Given the description of an element on the screen output the (x, y) to click on. 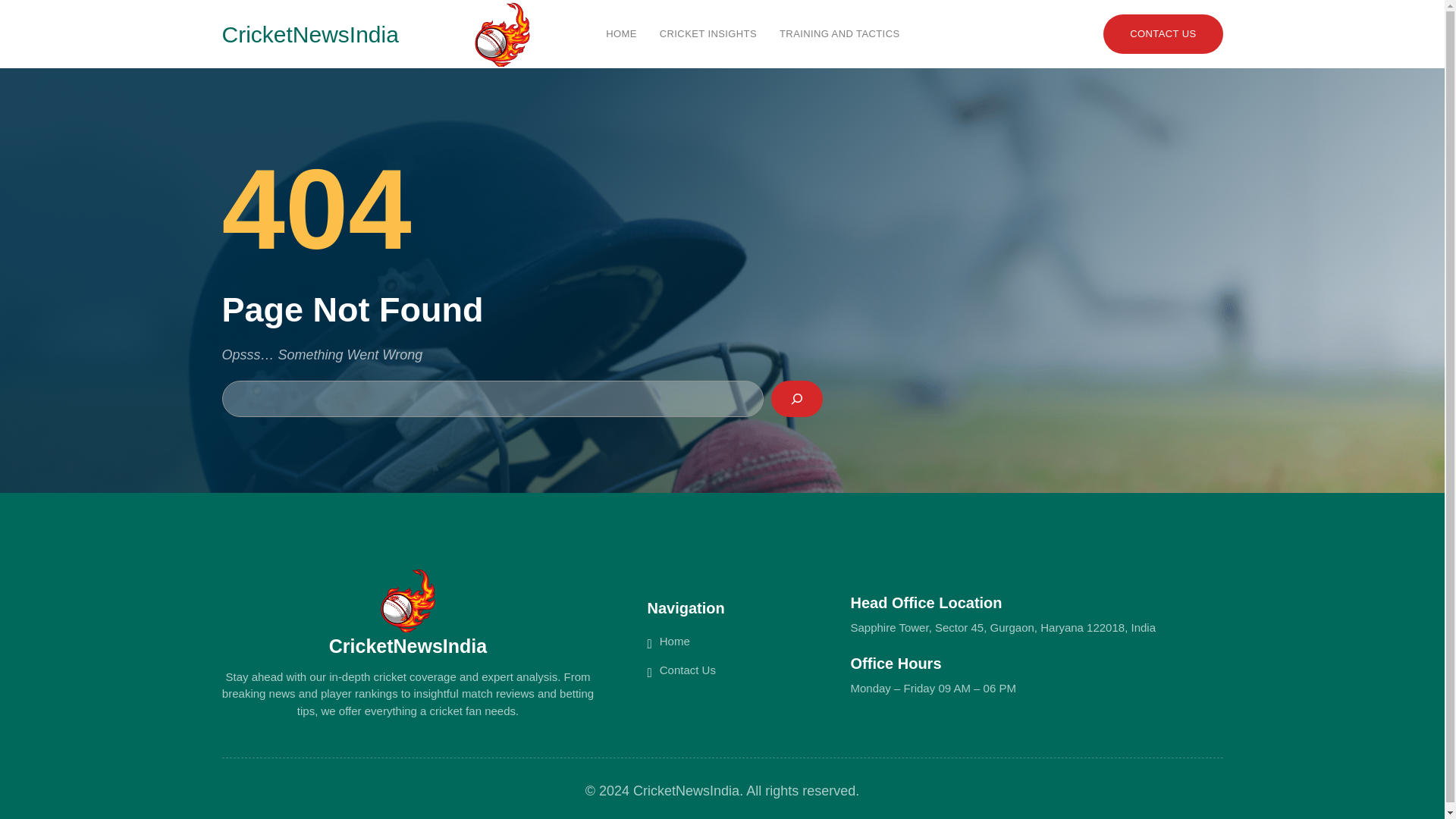
Contact Us (687, 668)
Home (674, 640)
CONTACT US (1163, 34)
CRICKET INSIGHTS (708, 33)
HOME (621, 33)
TRAINING AND TACTICS (838, 33)
CricketNewsIndia (309, 33)
